Given the description of an element on the screen output the (x, y) to click on. 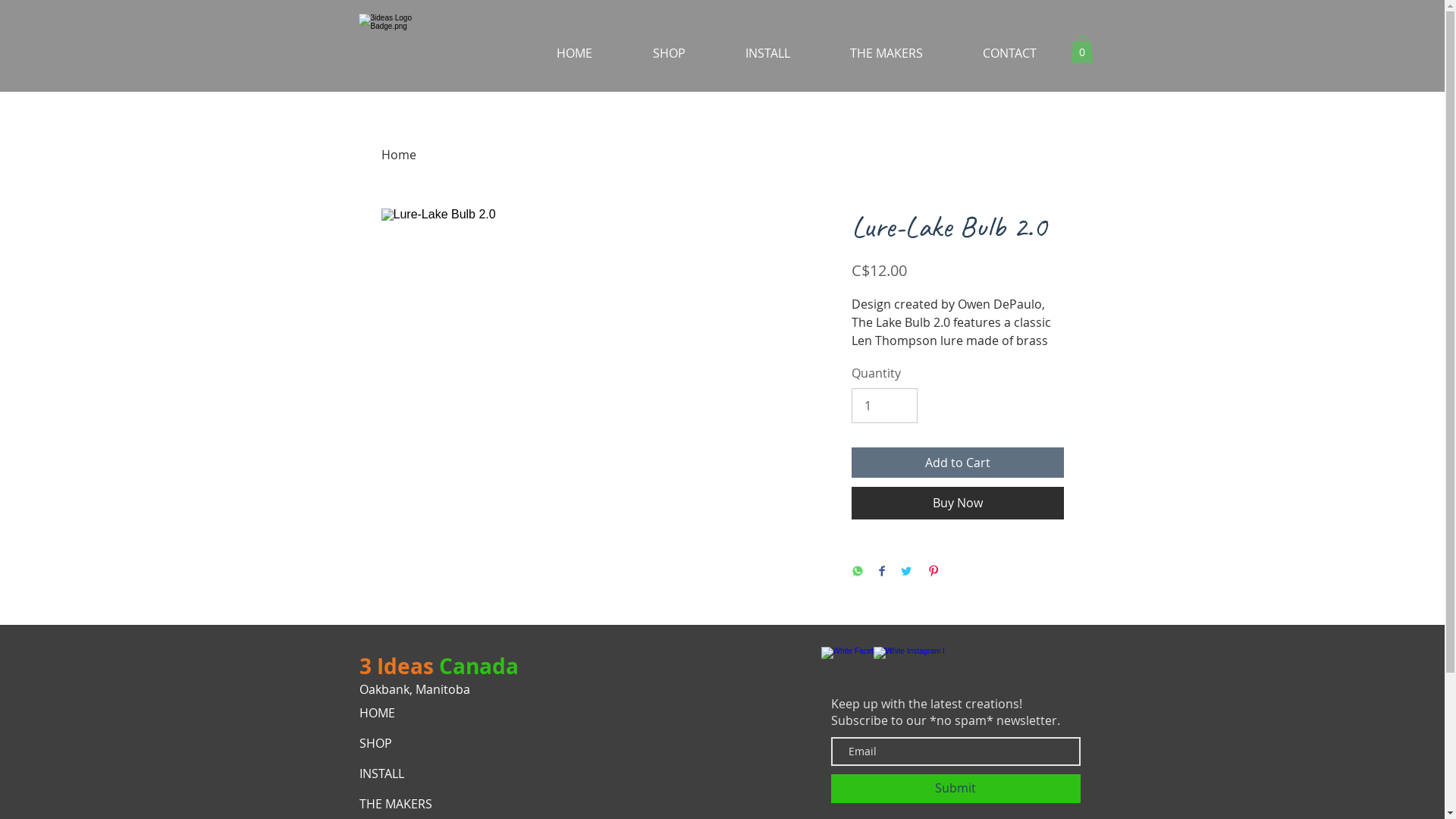
Add to Cart Element type: text (956, 462)
0 Element type: text (1081, 48)
HOME Element type: text (422, 712)
INSTALL Element type: text (422, 773)
Home Element type: text (397, 154)
Buy Now Element type: text (956, 502)
INSTALL Element type: text (748, 52)
HOME Element type: text (554, 52)
Submit Element type: text (955, 788)
CONTACT Element type: text (991, 52)
THE MAKERS Element type: text (866, 52)
SHOP Element type: text (649, 52)
SHOP Element type: text (422, 743)
LOGO 3 IDEAS (3).png Element type: hover (389, 45)
